Given the description of an element on the screen output the (x, y) to click on. 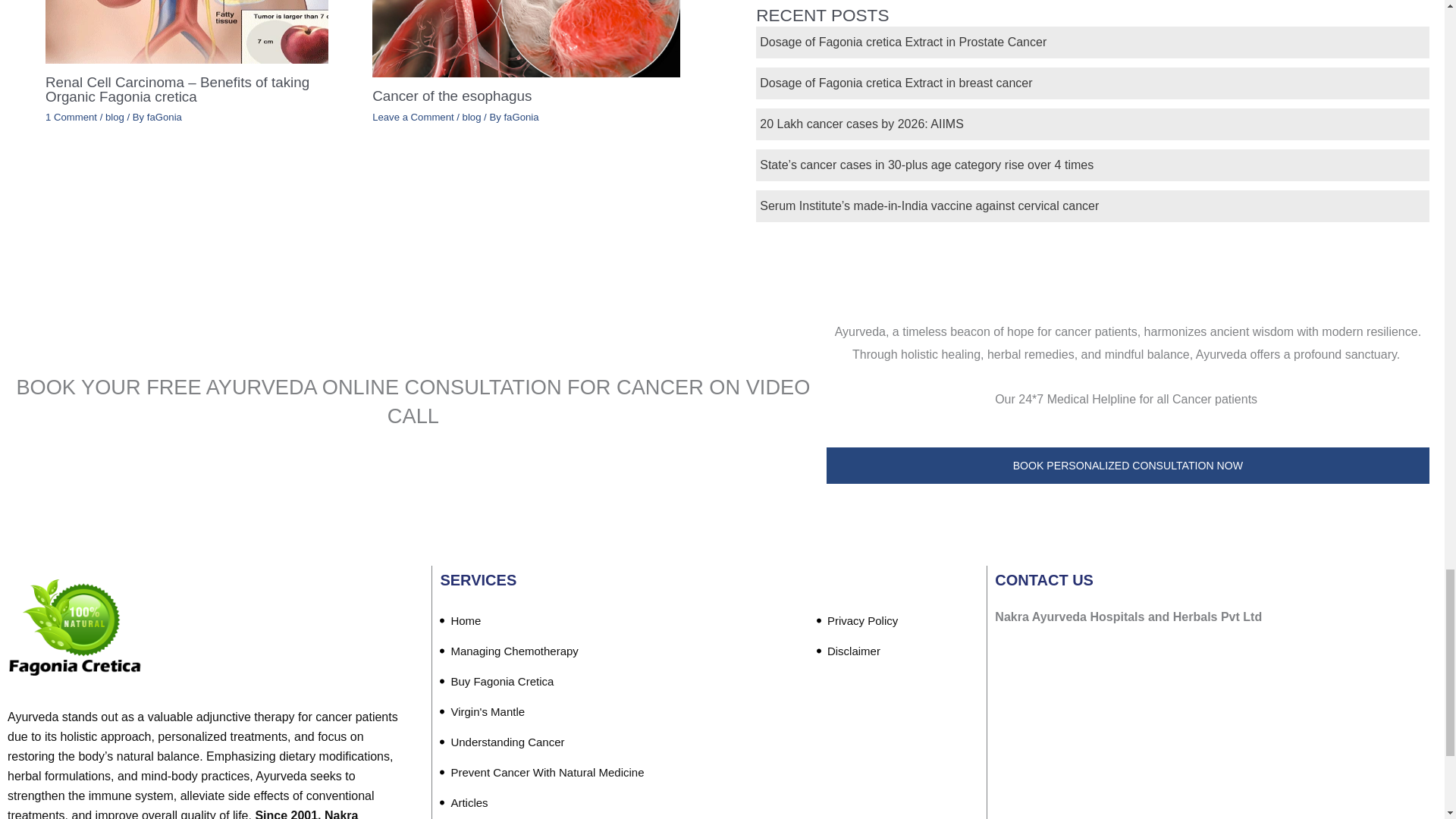
faGonia (520, 116)
blog (113, 116)
View all posts by faGonia (164, 116)
Prevent Cancer With Natural Medicine (541, 772)
Understanding Cancer (501, 742)
Nakra Ayurveda Hospitals and Herbals Pvt Ltd (1212, 742)
Buy Fagonia Cretica (496, 681)
Home (459, 621)
Virgin's Mantle (481, 711)
blog (472, 116)
BOOK PERSONALIZED CONSULTATION NOW (1128, 465)
Leave a Comment (413, 116)
1 Comment (71, 116)
Cancer of the esophagus (451, 95)
Managing Chemotherapy (508, 651)
